Given the description of an element on the screen output the (x, y) to click on. 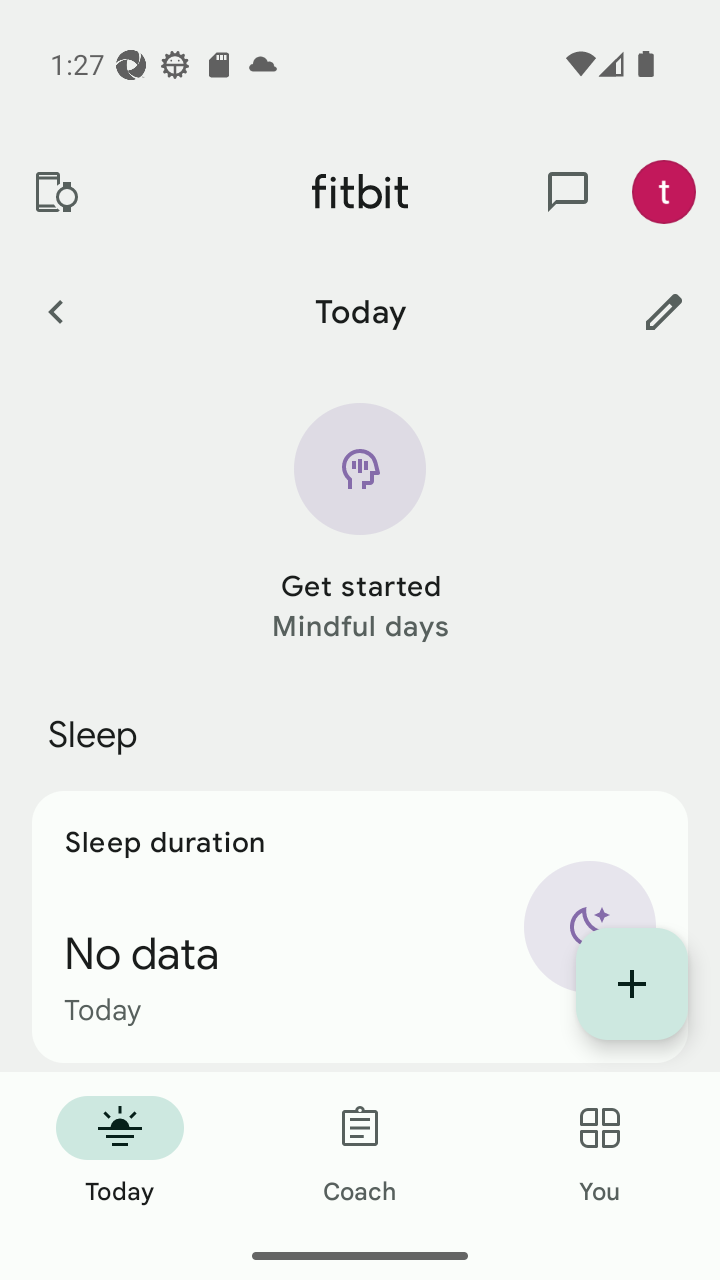
Devices and apps (55, 191)
messages and notifications (567, 191)
Previous Day (55, 311)
Customize (664, 311)
Mindfulness icon Get started Mindful days (360, 524)
Sleep duration No data Today Sleep static arc (359, 926)
Display list of quick log entries (632, 983)
Coach (359, 1151)
You (600, 1151)
